Given the description of an element on the screen output the (x, y) to click on. 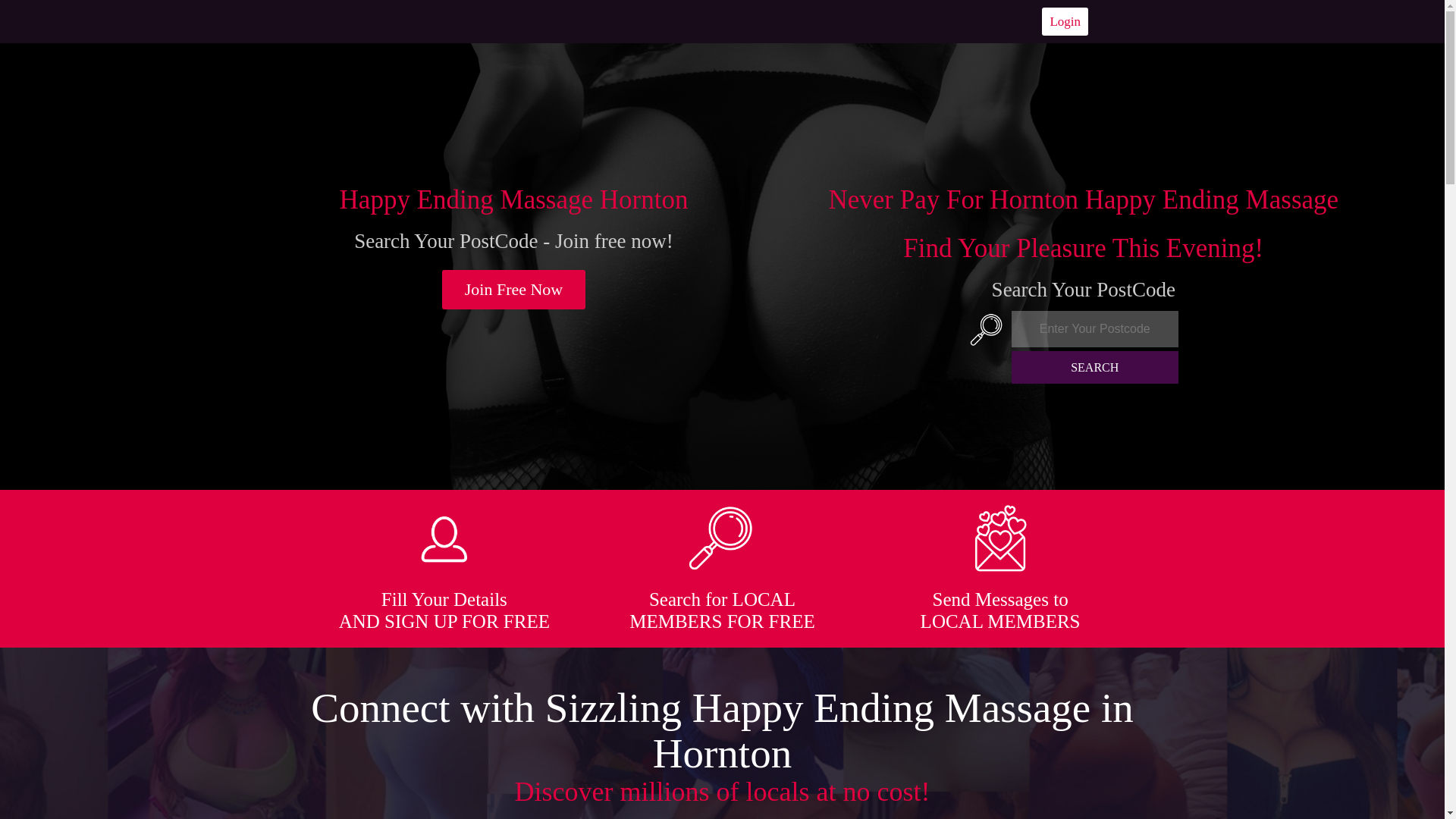
Login (1064, 21)
Join Free Now (514, 289)
Join (514, 289)
Login (1064, 21)
SEARCH (1094, 367)
